Given the description of an element on the screen output the (x, y) to click on. 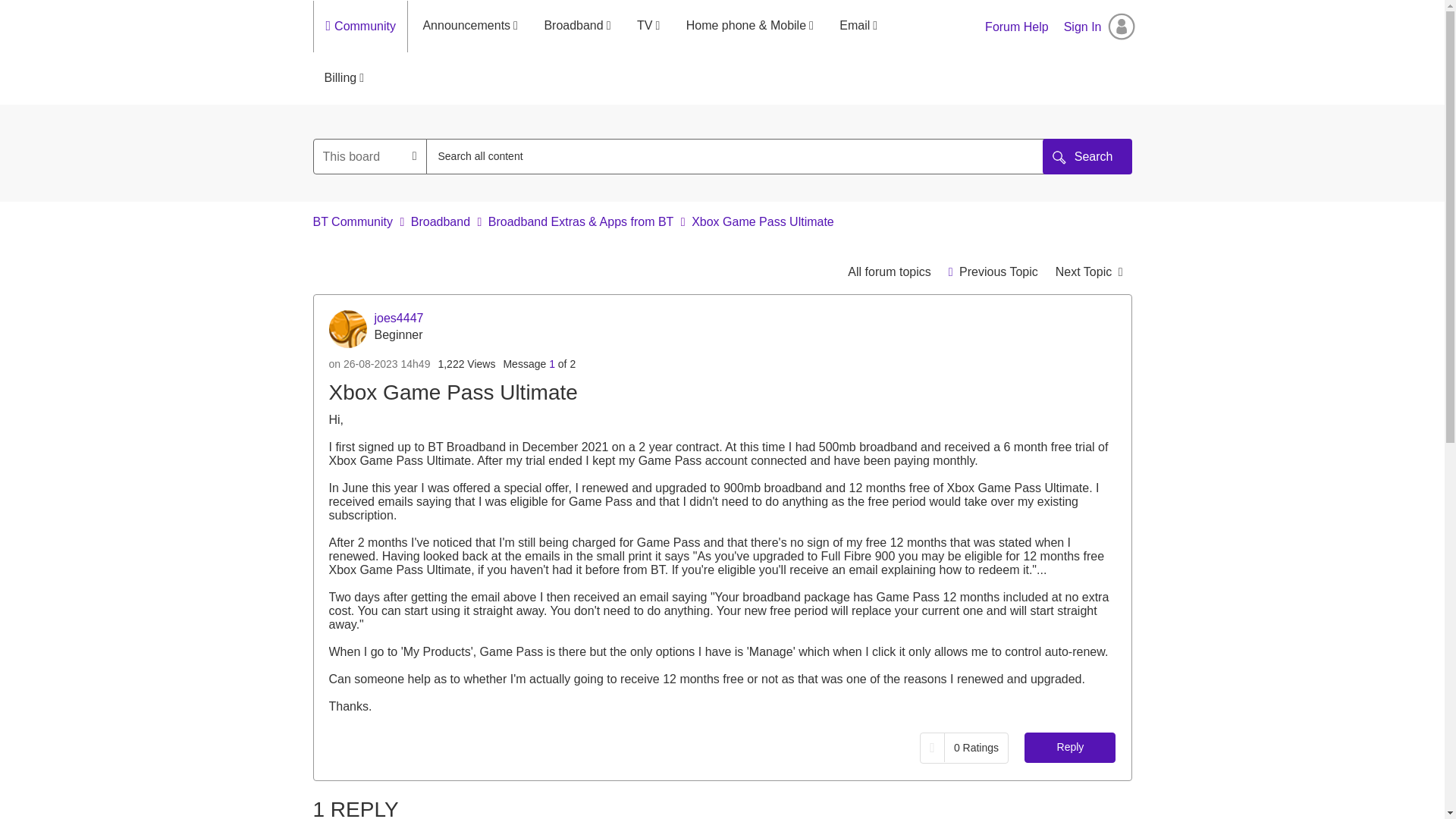
All forum topics (888, 271)
Sign In (1099, 26)
Search (1087, 156)
Email (858, 25)
Broadband (576, 25)
Search (742, 156)
joes4447 (347, 329)
Billing (344, 78)
Broadband (440, 221)
BT Community (353, 221)
Search (1087, 156)
The total number of ratings this post has received. (975, 747)
Search Granularity (370, 156)
Where is BT's Welcome Back department..? (992, 271)
What is my BT i.d for accessing a BT wi-fi hotspot ? (1089, 271)
